Given the description of an element on the screen output the (x, y) to click on. 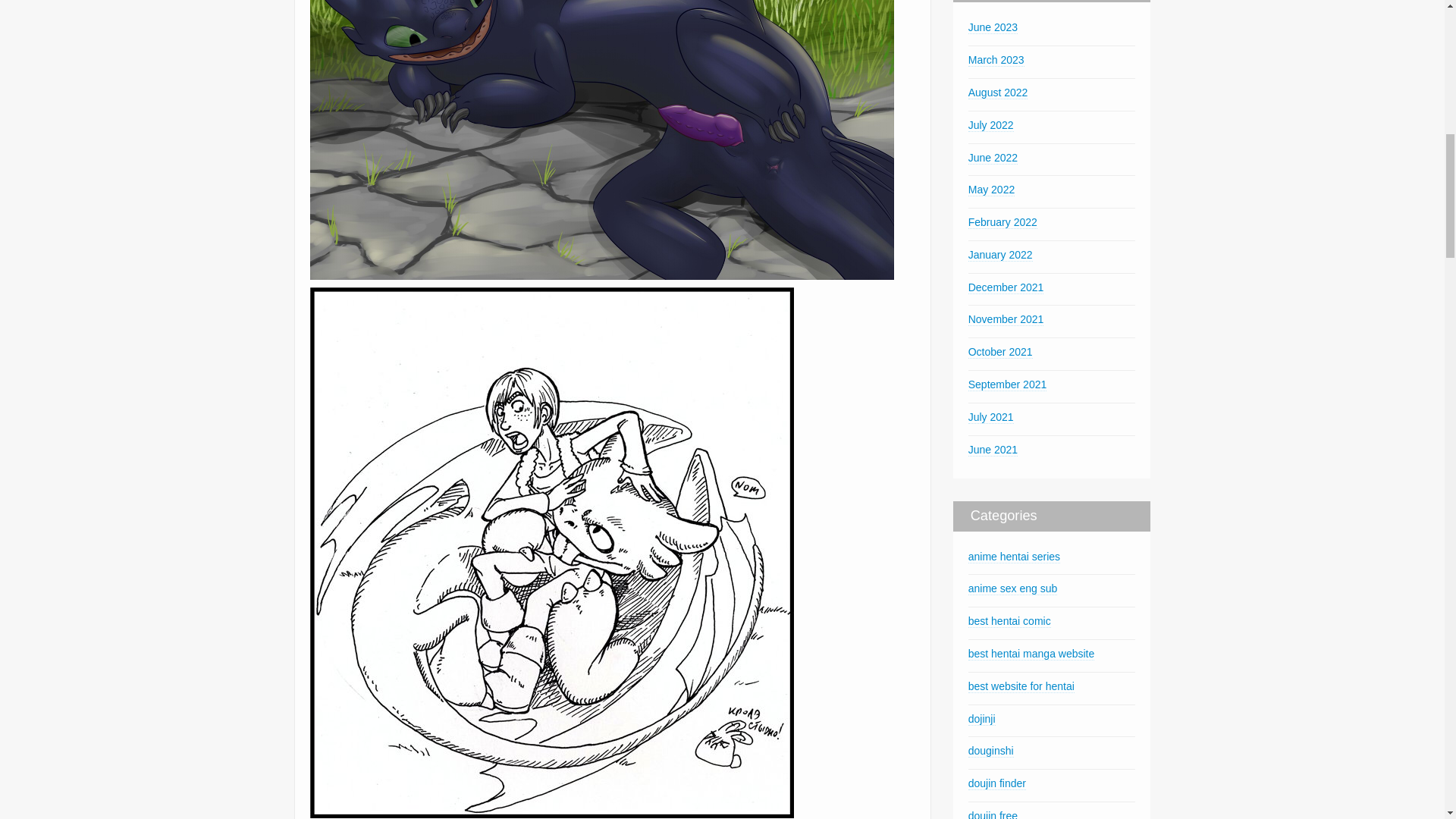
November 2021 (1005, 318)
May 2022 (991, 189)
October 2021 (1000, 351)
February 2022 (1002, 222)
August 2022 (997, 92)
July 2021 (990, 417)
March 2023 (996, 60)
December 2021 (1005, 287)
September 2021 (1007, 384)
June 2022 (992, 157)
July 2022 (990, 124)
June 2021 (992, 449)
June 2023 (992, 27)
January 2022 (1000, 254)
